Given the description of an element on the screen output the (x, y) to click on. 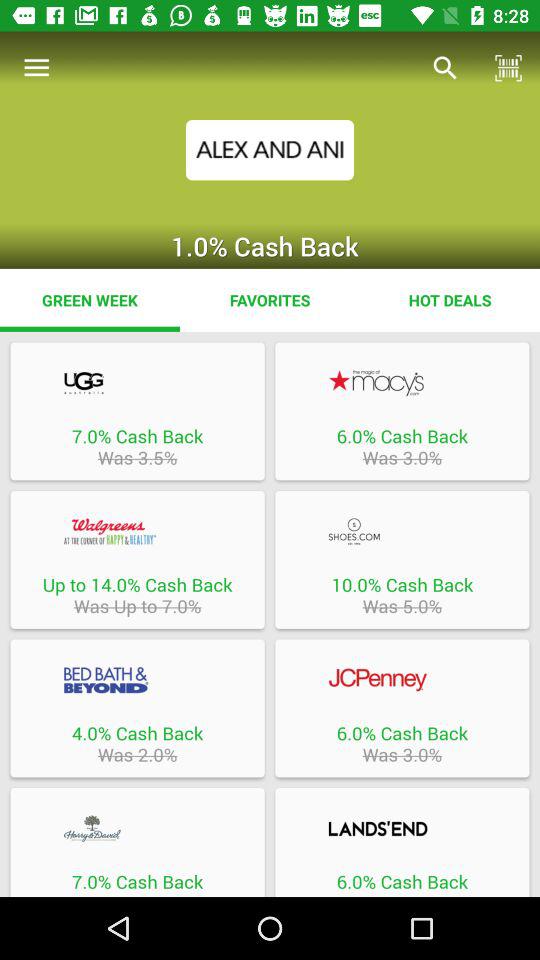
open the shoes.com website (402, 531)
